Given the description of an element on the screen output the (x, y) to click on. 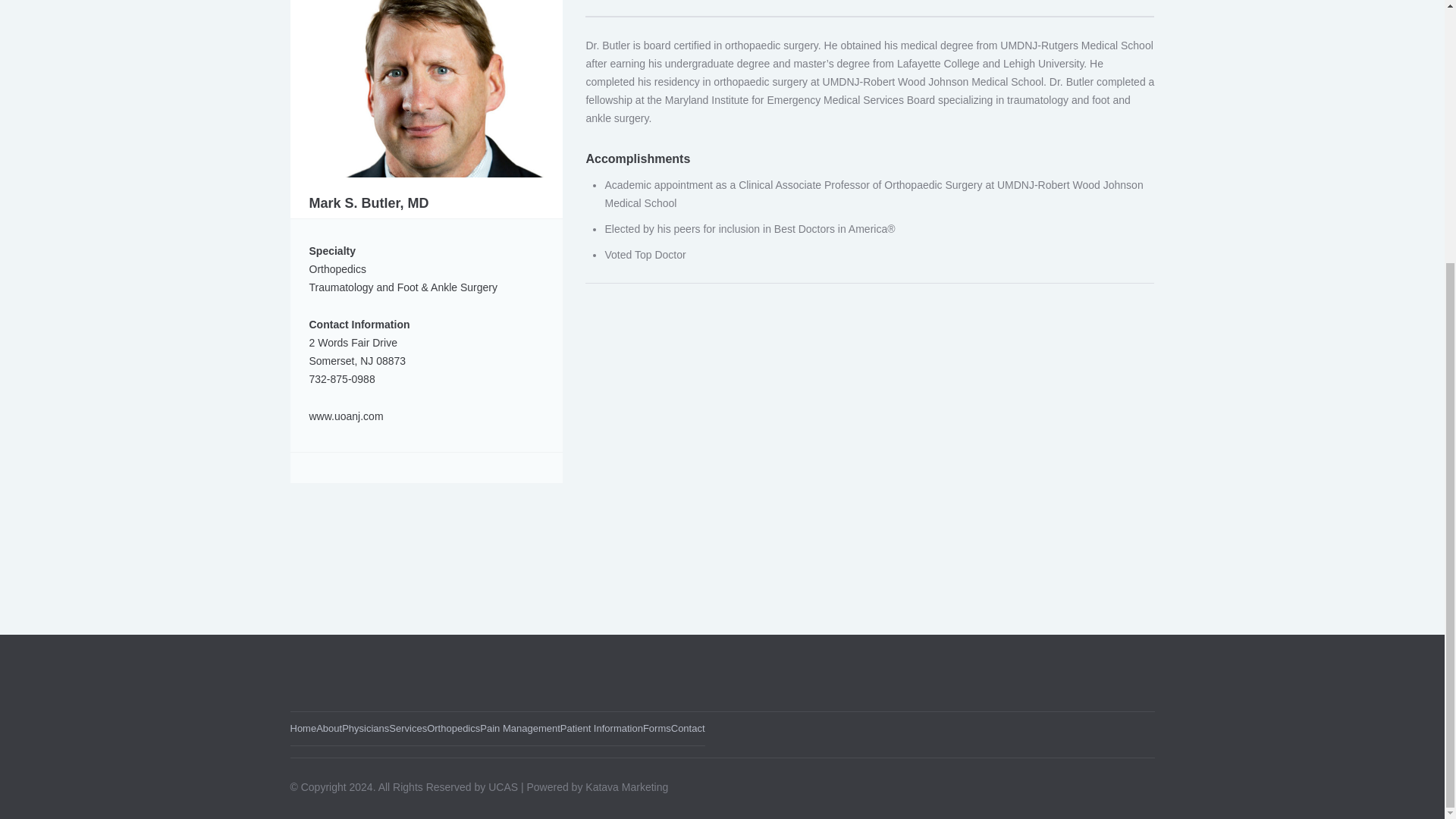
Katava Marketing (626, 787)
Pain Management (520, 727)
Forms (657, 727)
Patient Information (601, 727)
Contact (687, 727)
Orthopedics (453, 727)
Services (407, 727)
Mark S. Butler, MD (425, 73)
www.uoanj.com (346, 416)
Home (302, 727)
